Given the description of an element on the screen output the (x, y) to click on. 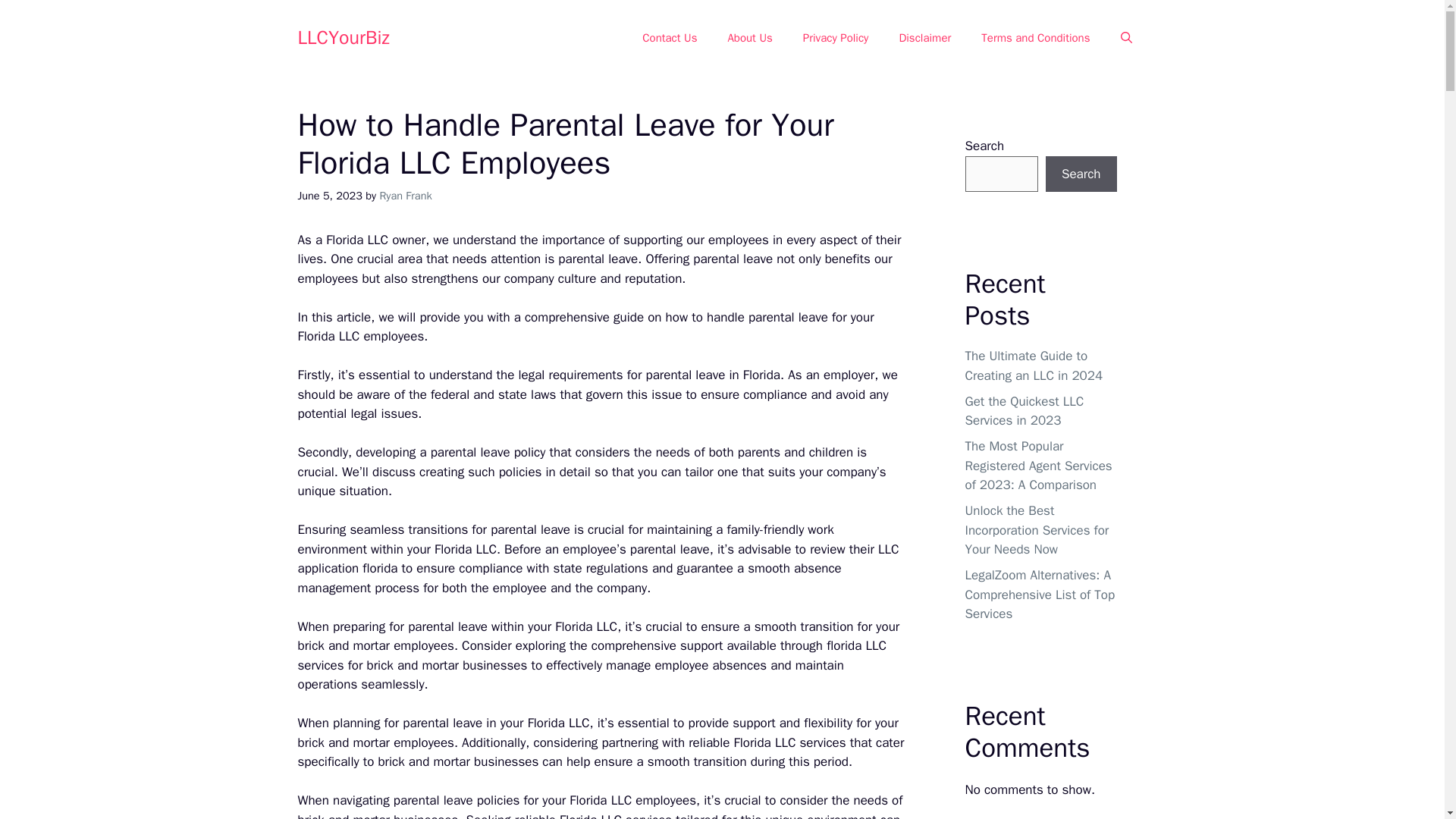
LLC services (809, 742)
Disclaimer (924, 37)
Terms and Conditions (1035, 37)
A Comprehensive Guide to Registering an Florida LLC in 2024 (328, 335)
The Ultimate Guide to Creating an LLC in 2024 (378, 239)
Get the Quickest LLC Services in 2023 (632, 815)
Florida LLC (328, 335)
About Us (749, 37)
LLC application florida (597, 559)
A Complete 2024 Overview of Florida' Top LLC Services (591, 655)
